Given the description of an element on the screen output the (x, y) to click on. 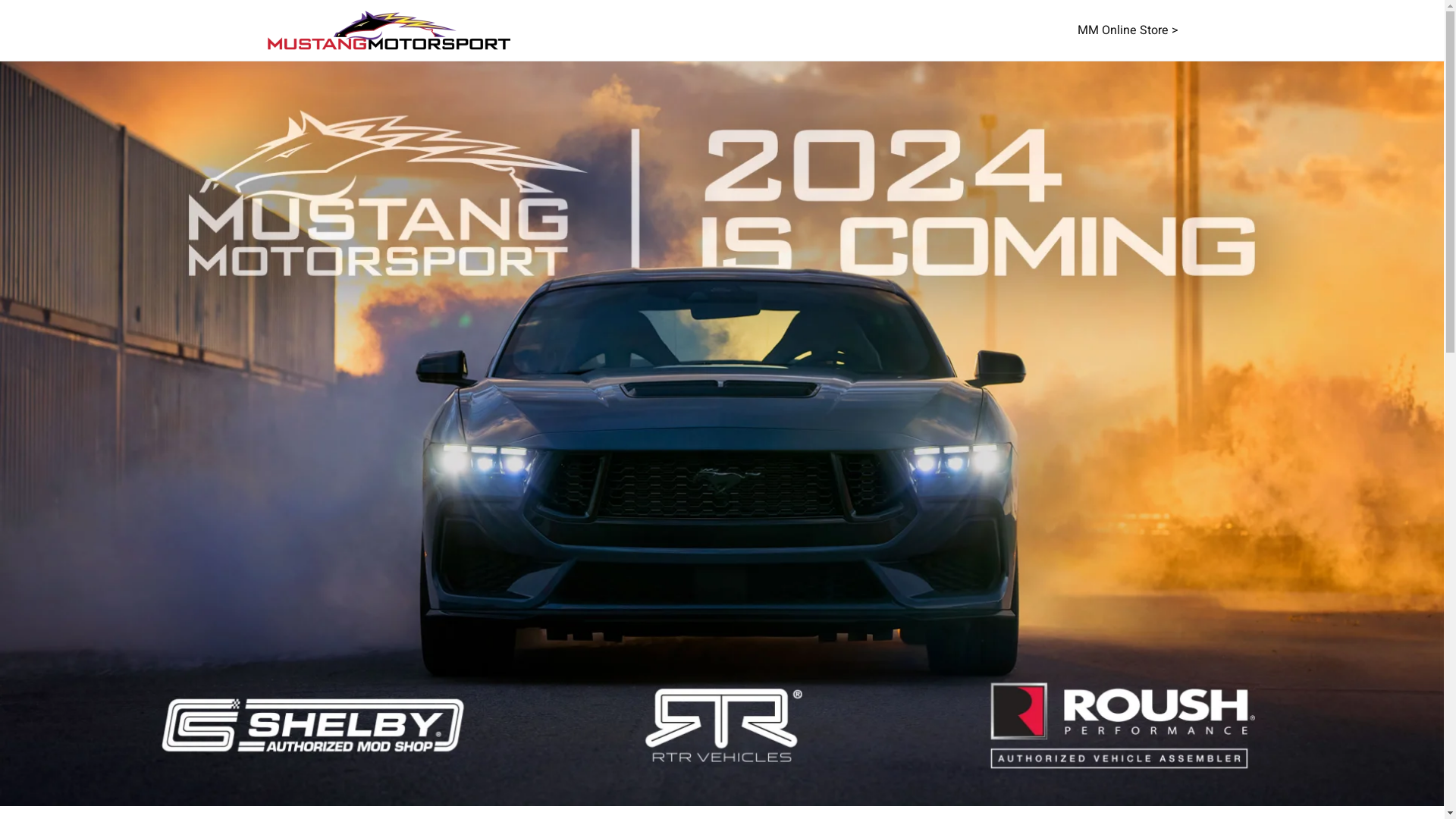
MM Online Store > Element type: text (1126, 30)
